Given the description of an element on the screen output the (x, y) to click on. 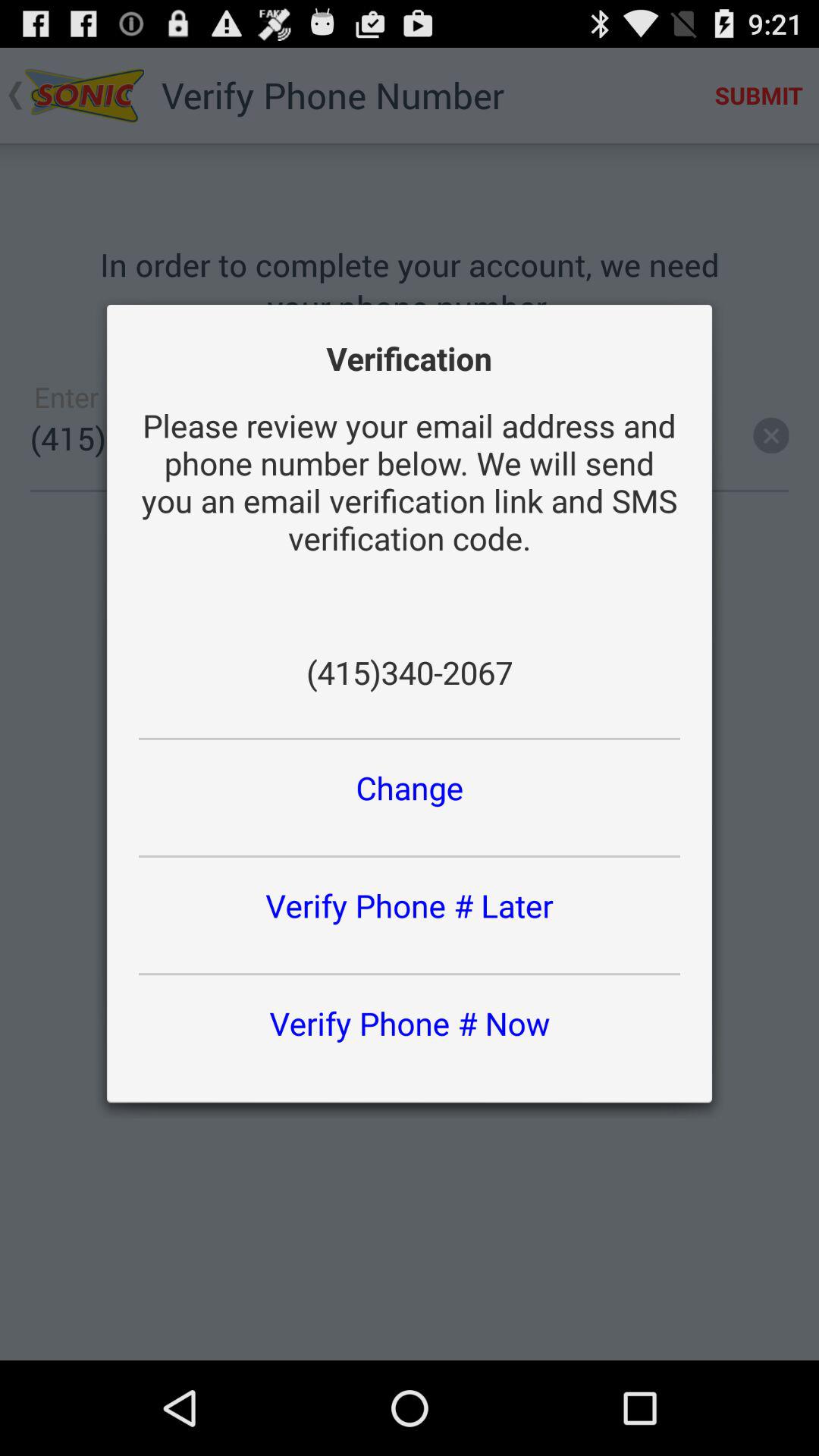
tap change button (409, 787)
